Given the description of an element on the screen output the (x, y) to click on. 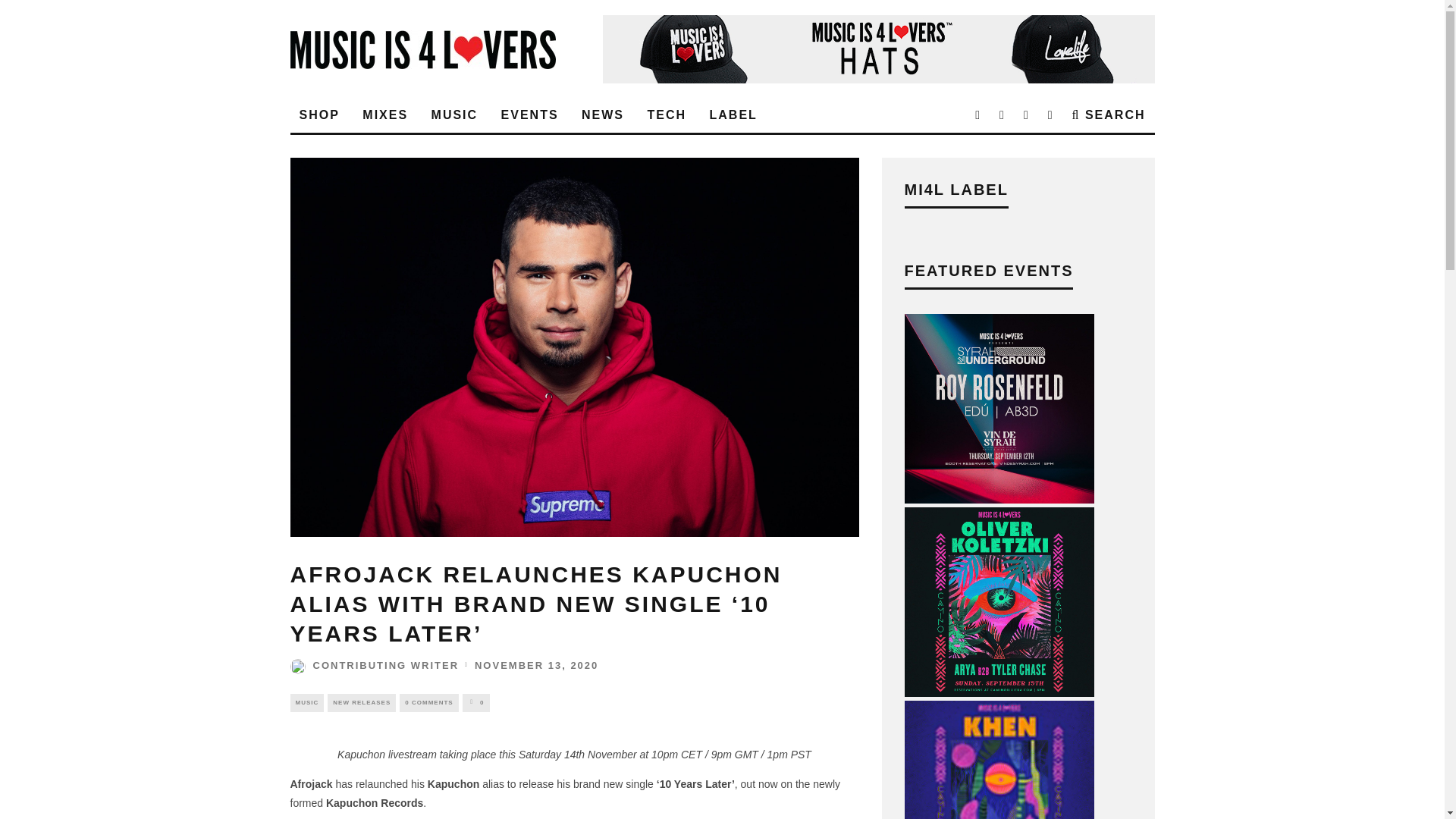
View all posts in MUSIC (306, 702)
View all posts in NEW RELEASES (361, 702)
Search (1108, 115)
Log In (721, 409)
